Given the description of an element on the screen output the (x, y) to click on. 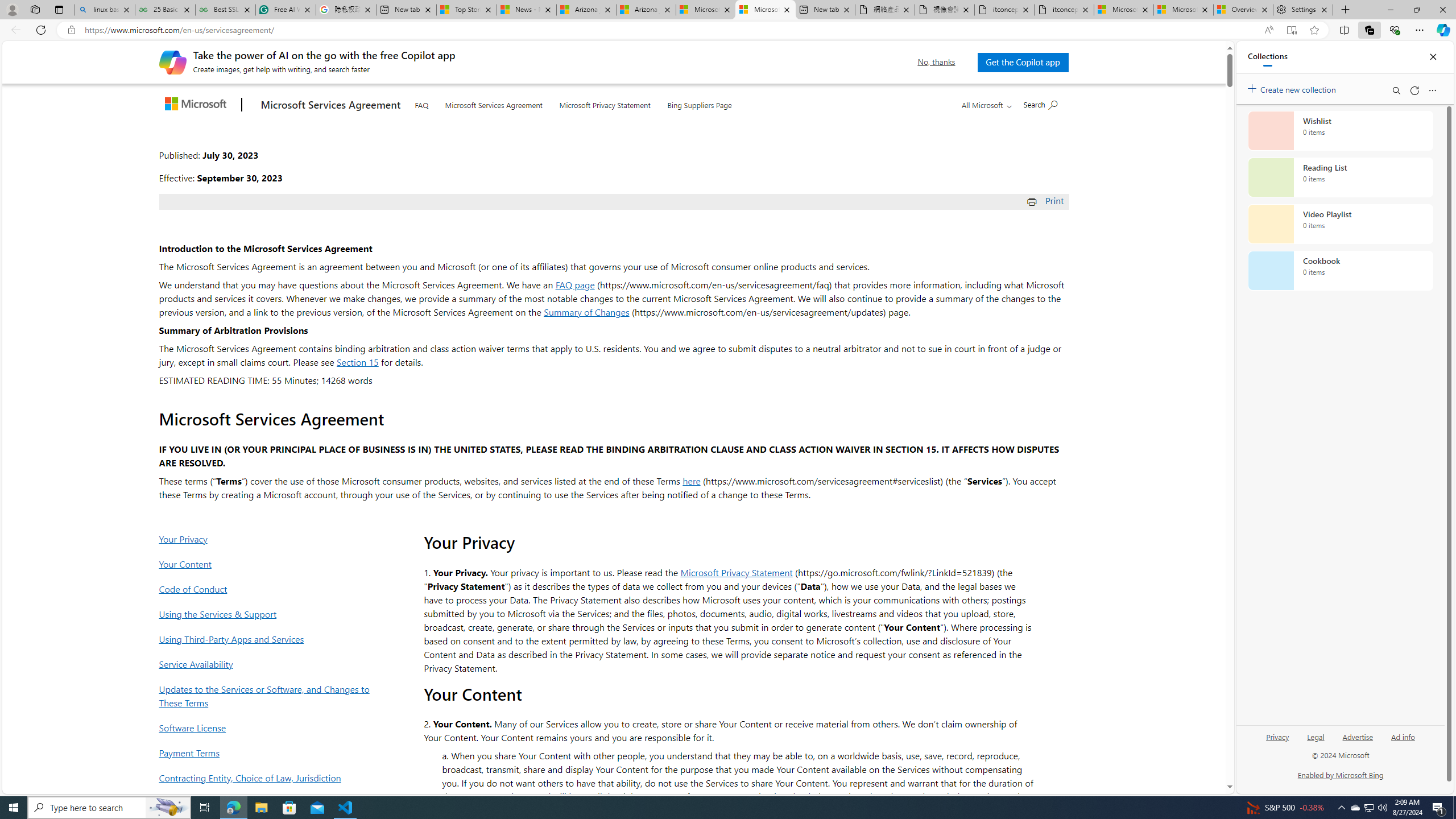
Microsoft Privacy Statement (604, 103)
Your Privacy (267, 538)
FAQ page (574, 284)
Print (1046, 200)
